Given the description of an element on the screen output the (x, y) to click on. 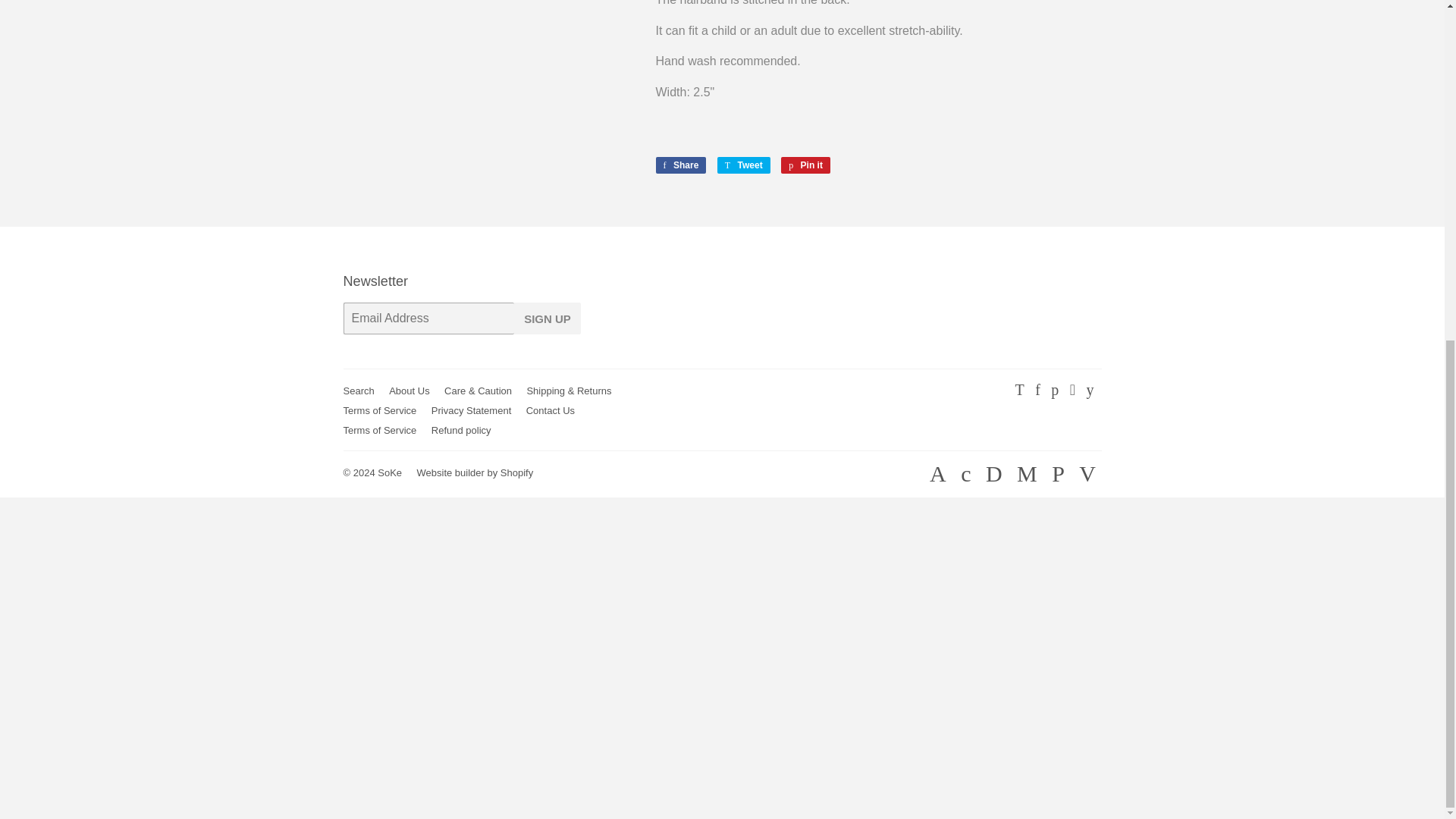
Share on Facebook (680, 165)
Tweet on Twitter (743, 165)
Pin on Pinterest (804, 165)
